Given the description of an element on the screen output the (x, y) to click on. 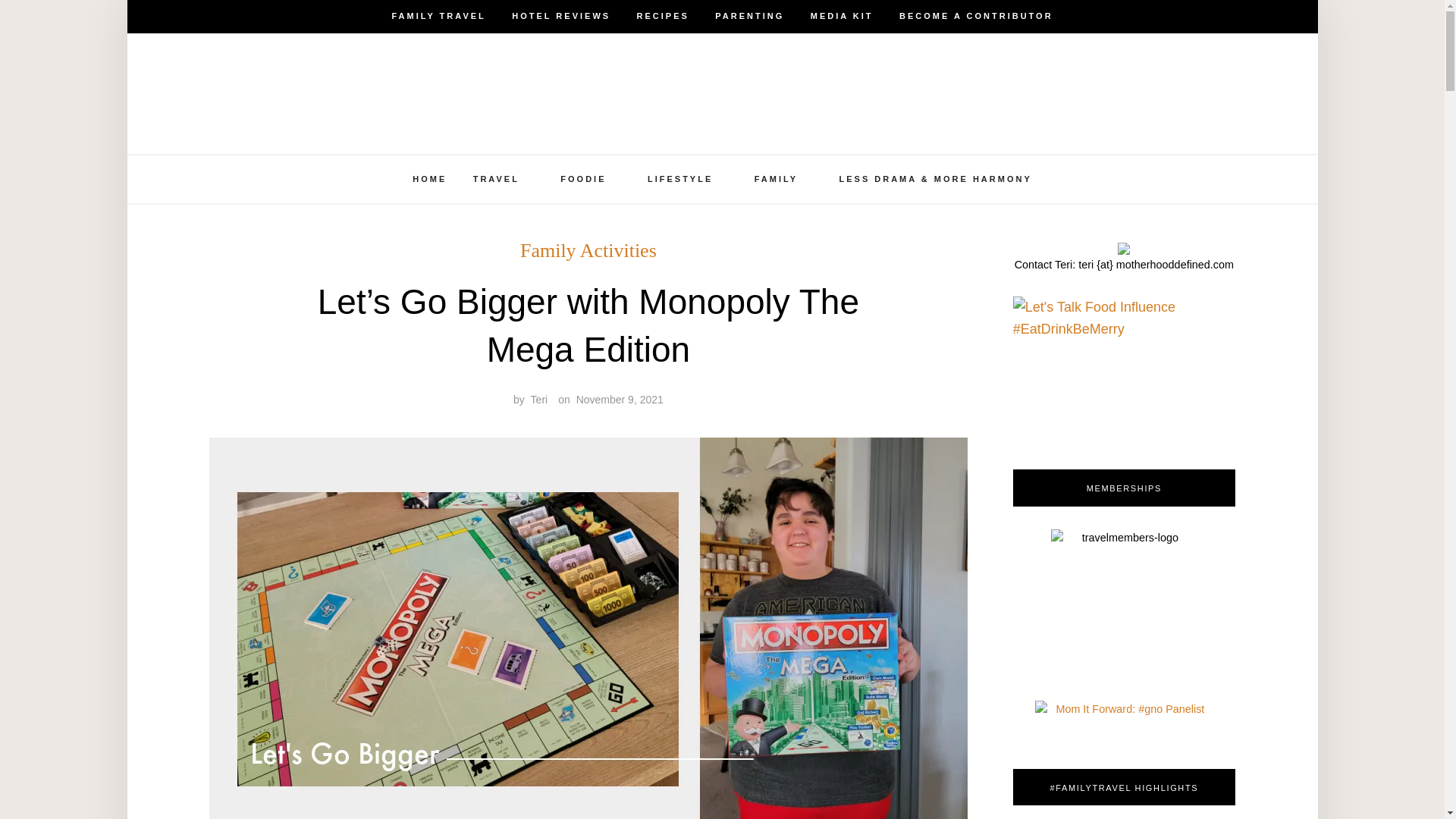
HOME (429, 179)
HOTEL REVIEWS (561, 16)
TRAVEL (496, 179)
RECIPES (662, 16)
MEDIA KIT (841, 16)
PARENTING (749, 16)
Submit (64, 23)
BECOME A CONTRIBUTOR (975, 16)
FAMILY TRAVEL (437, 16)
